Given the description of an element on the screen output the (x, y) to click on. 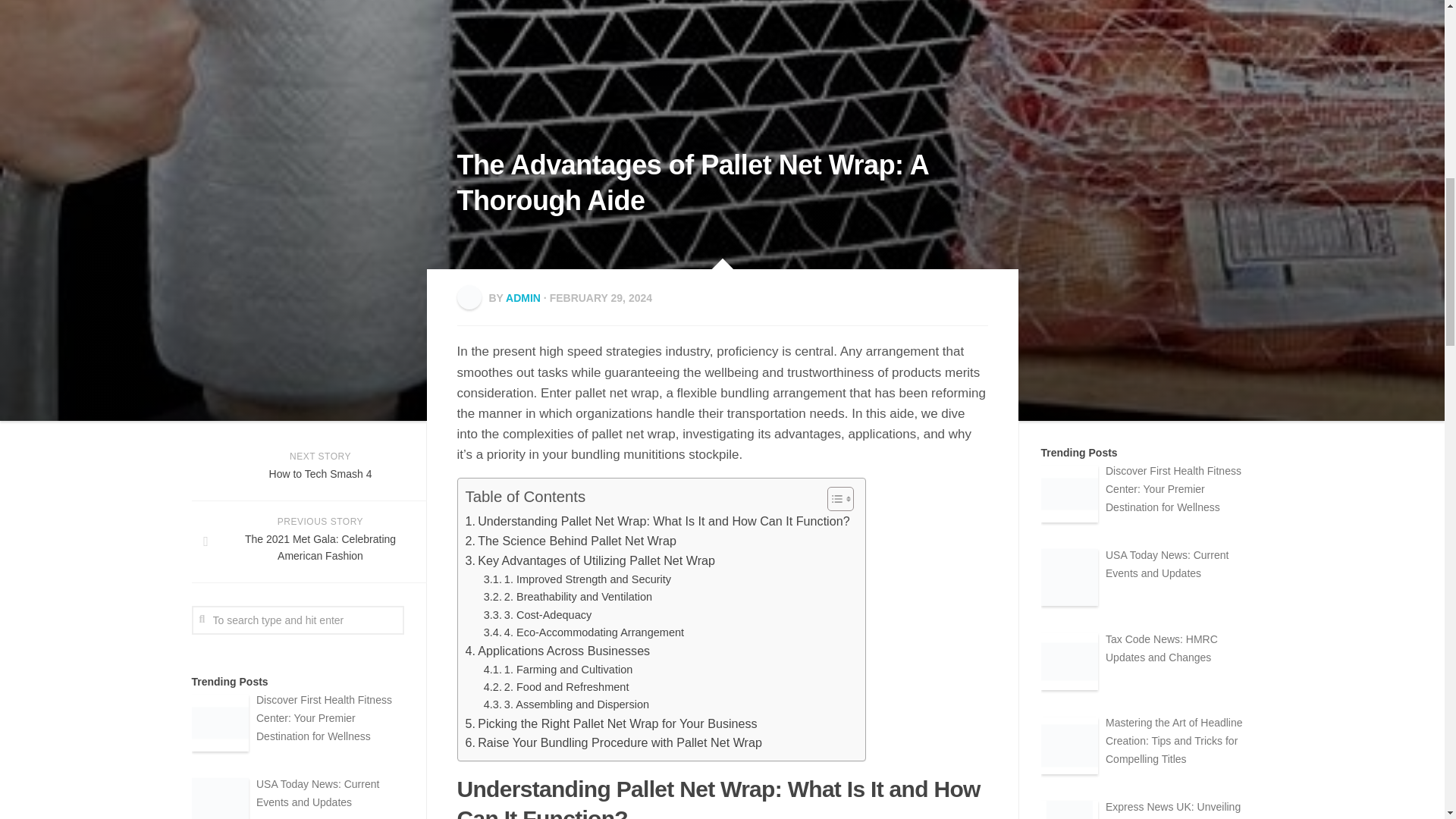
Raise Your Bundling Procedure with Pallet Net Wrap (613, 742)
To search type and hit enter (296, 620)
1. Improved Strength and Security (577, 579)
Posts by admin (522, 297)
Key Advantages of Utilizing Pallet Net Wrap (590, 560)
To search type and hit enter (296, 620)
2. Breathability and Ventilation (567, 597)
Picking the Right Pallet Net Wrap for Your Business (611, 723)
1. Farming and Cultivation (558, 669)
